Given the description of an element on the screen output the (x, y) to click on. 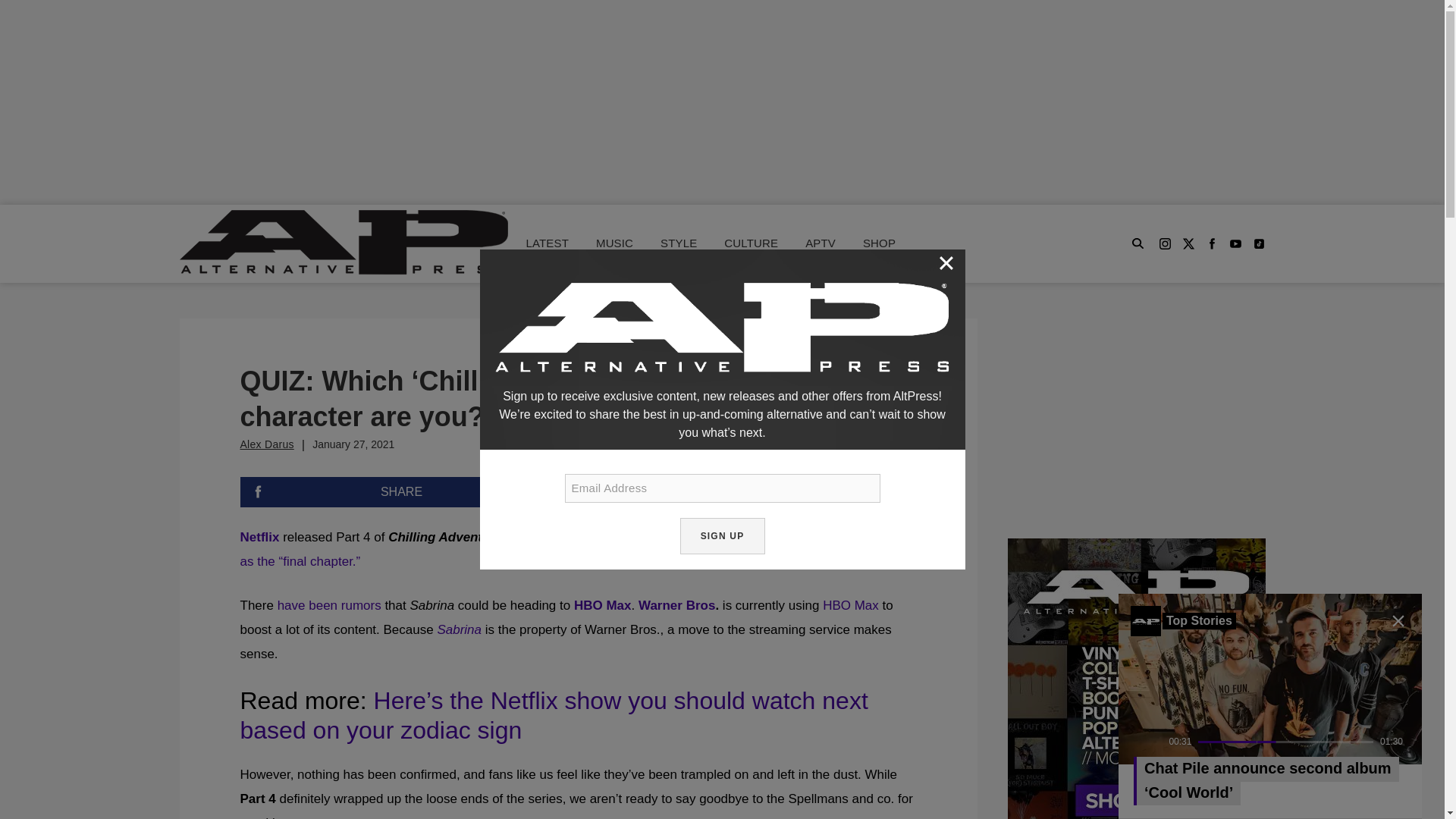
TWEET (753, 491)
Visit us on TikTok (1257, 243)
LATEST (547, 242)
Sign Up (721, 535)
CULTURE (750, 242)
STYLE (679, 242)
Visit us on Youtube (1235, 243)
Visit us on Instagram (1164, 243)
SHARE (401, 491)
Sabrina (458, 629)
Chilling Adventures Of Sabrina (483, 536)
SHOP (879, 242)
Alex Darus (267, 444)
January 27, 2021 (353, 444)
Visit us on Facebook (1211, 243)
